Given the description of an element on the screen output the (x, y) to click on. 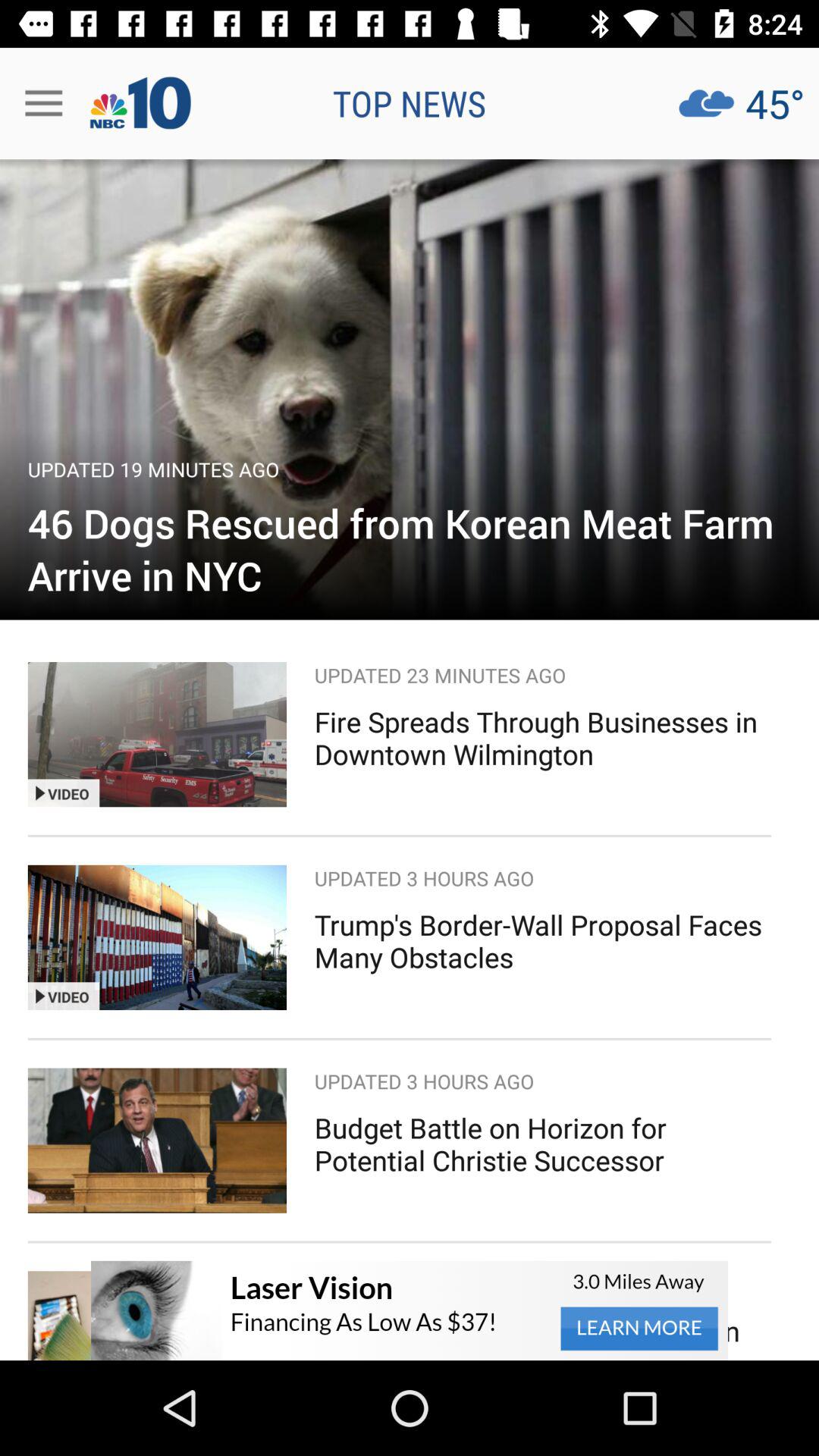
press top news icon (409, 103)
